Given the description of an element on the screen output the (x, y) to click on. 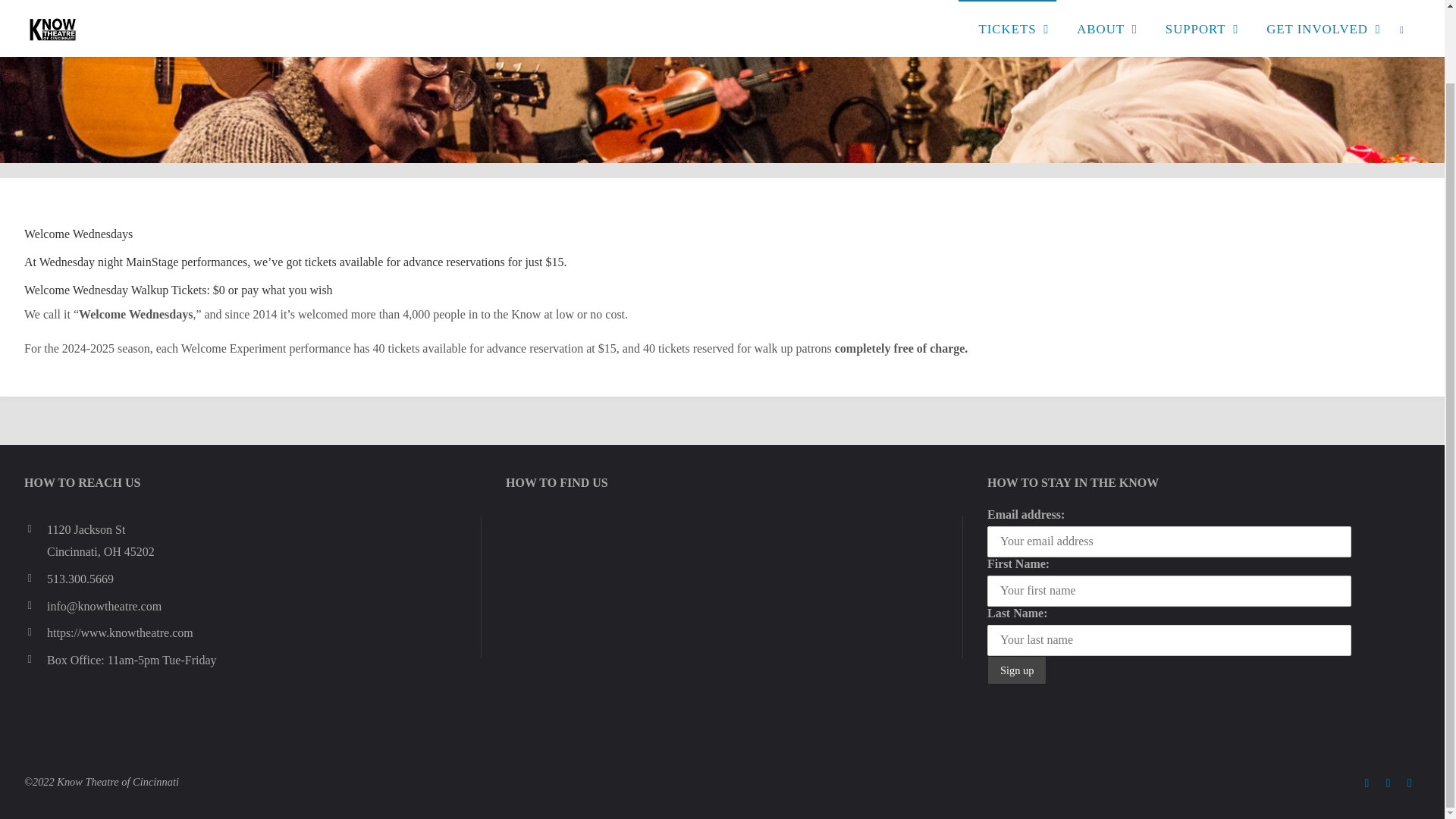
E-mail (35, 605)
KNOW THEATRE OF CINCINNATI (140, 27)
Web (35, 632)
Opening Hours (35, 659)
Phone (35, 578)
Cincinnati's Theatrical Playground (140, 27)
Sign up (1016, 670)
Address (35, 528)
